Given the description of an element on the screen output the (x, y) to click on. 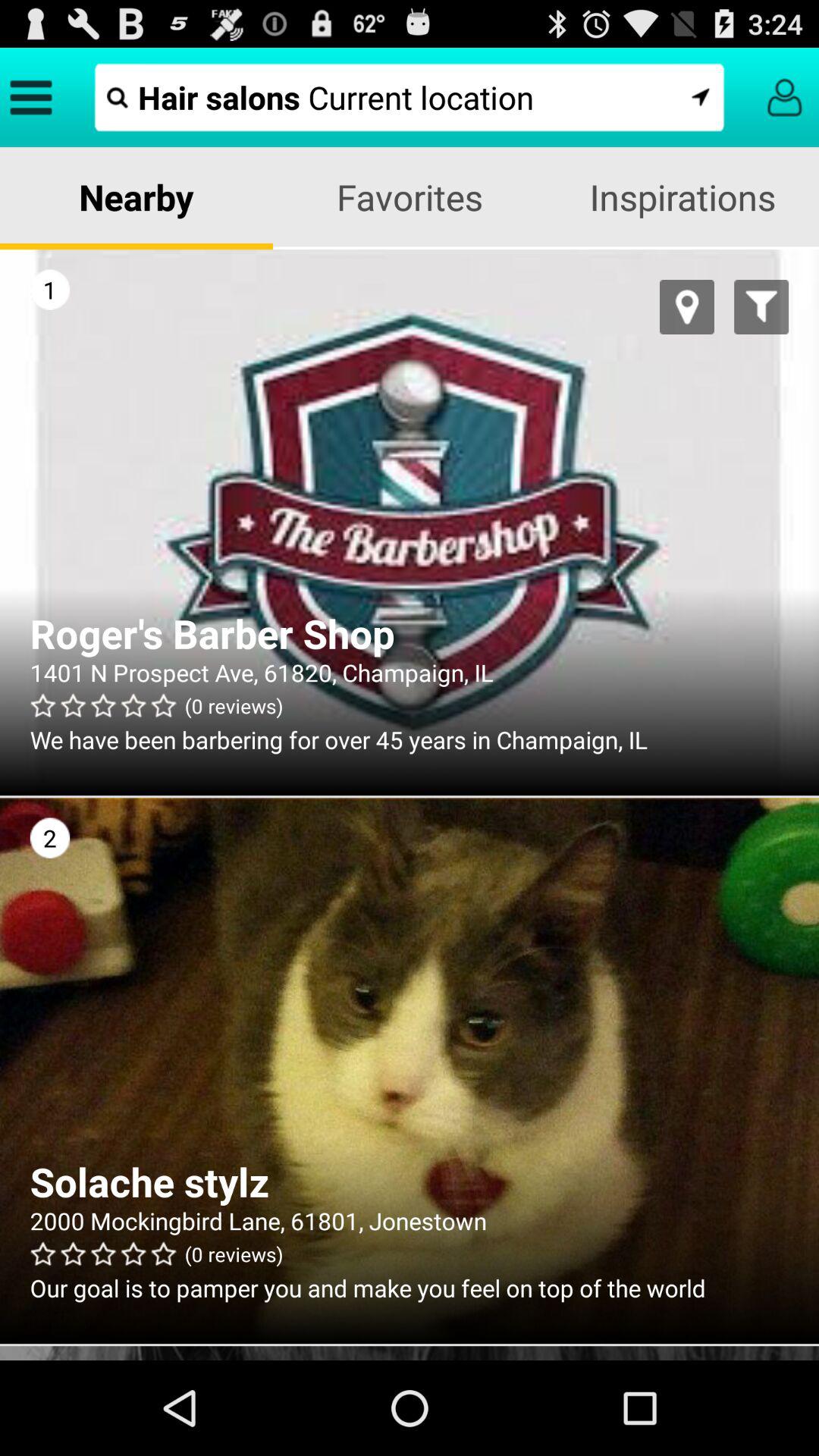
press item above nearby app (409, 97)
